Given the description of an element on the screen output the (x, y) to click on. 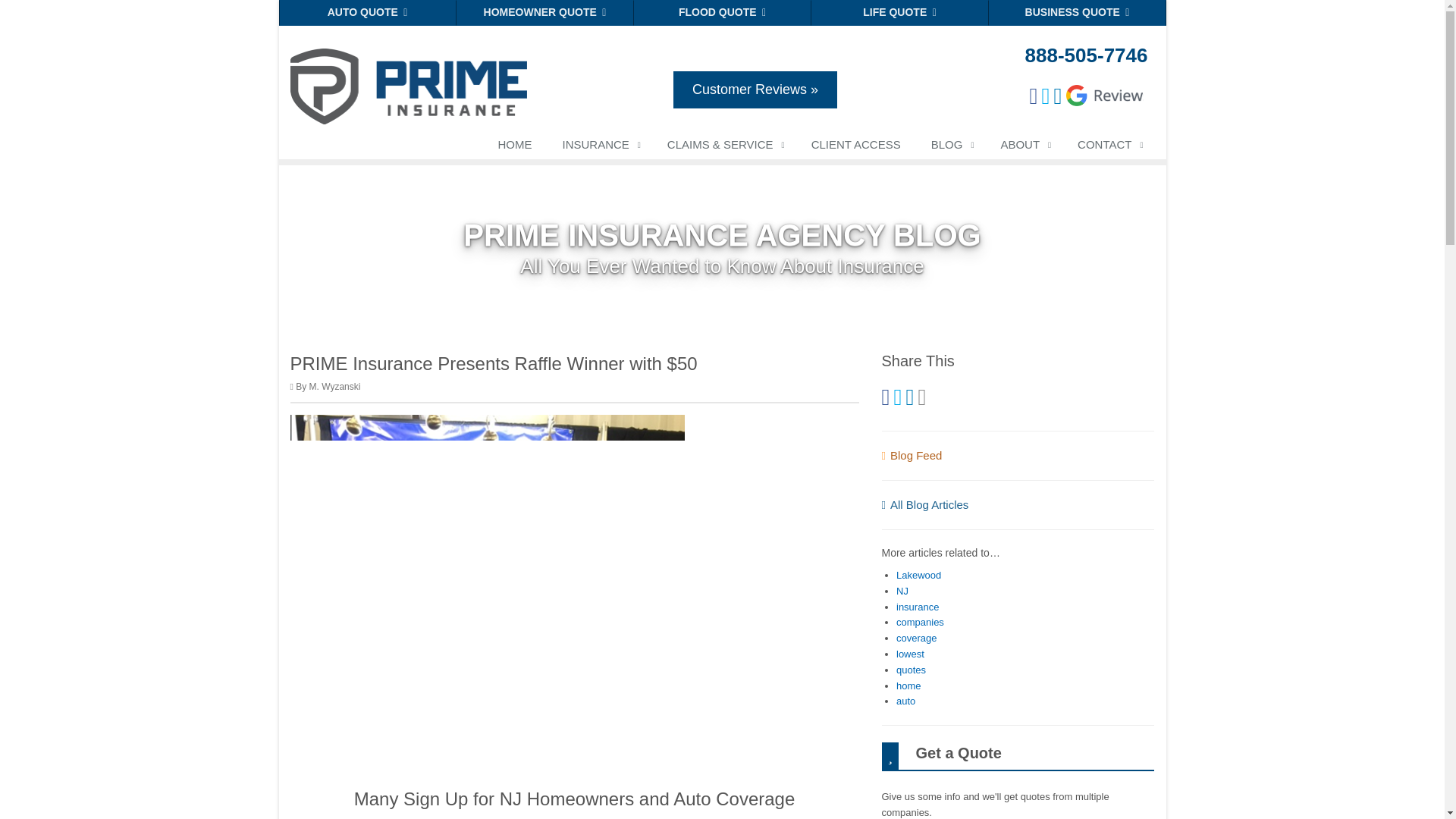
INSURANCE (598, 147)
FLOOD QUOTE (721, 12)
HOMEOWNER QUOTE (545, 12)
HOME (514, 147)
AUTO QUOTE (368, 12)
